Given the description of an element on the screen output the (x, y) to click on. 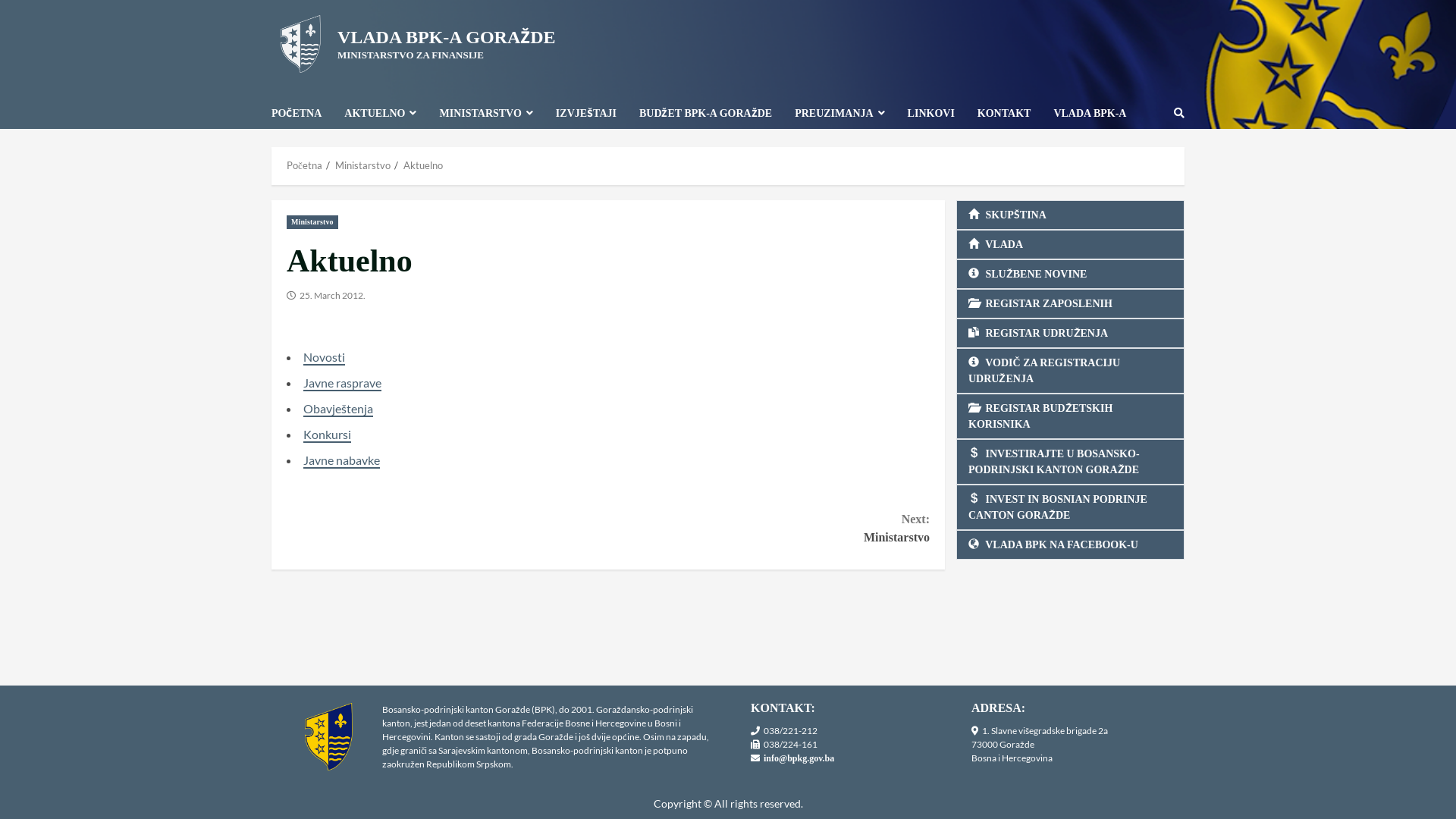
Search Element type: text (1145, 164)
MINISTARSTVO Element type: text (485, 112)
PREUZIMANJA Element type: text (839, 112)
Novosti Element type: text (324, 357)
AKTUELNO Element type: text (379, 112)
Ministarstvo Element type: text (312, 222)
Aktuelno Element type: text (422, 165)
VLADA Element type: text (1070, 243)
Javne nabavke Element type: text (341, 460)
Ministarstvo Element type: text (362, 165)
Konkursi Element type: text (327, 434)
KONTAKT Element type: text (1004, 112)
LINKOVI Element type: text (931, 112)
Search Element type: hover (1178, 112)
VLADA BPK NA FACEBOOK-U Element type: text (1070, 543)
REGISTAR ZAPOSLENIH Element type: text (1070, 302)
Next:
Ministarstvo Element type: text (768, 528)
VLADA BPK-A Element type: text (1083, 112)
Javne rasprave Element type: text (342, 383)
